Given the description of an element on the screen output the (x, y) to click on. 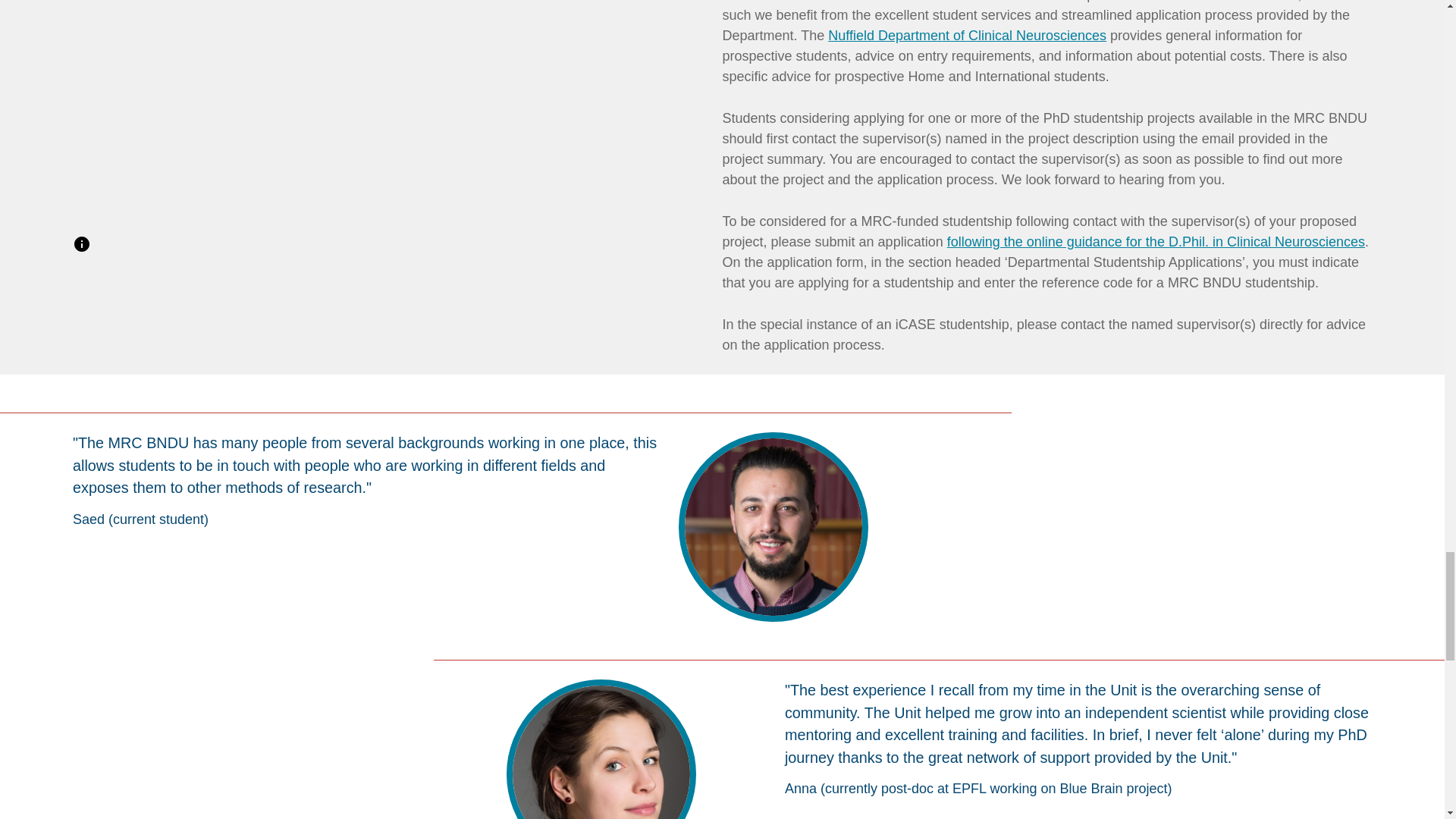
Nuffield Department of Clinical Neurosciences (967, 35)
